Given the description of an element on the screen output the (x, y) to click on. 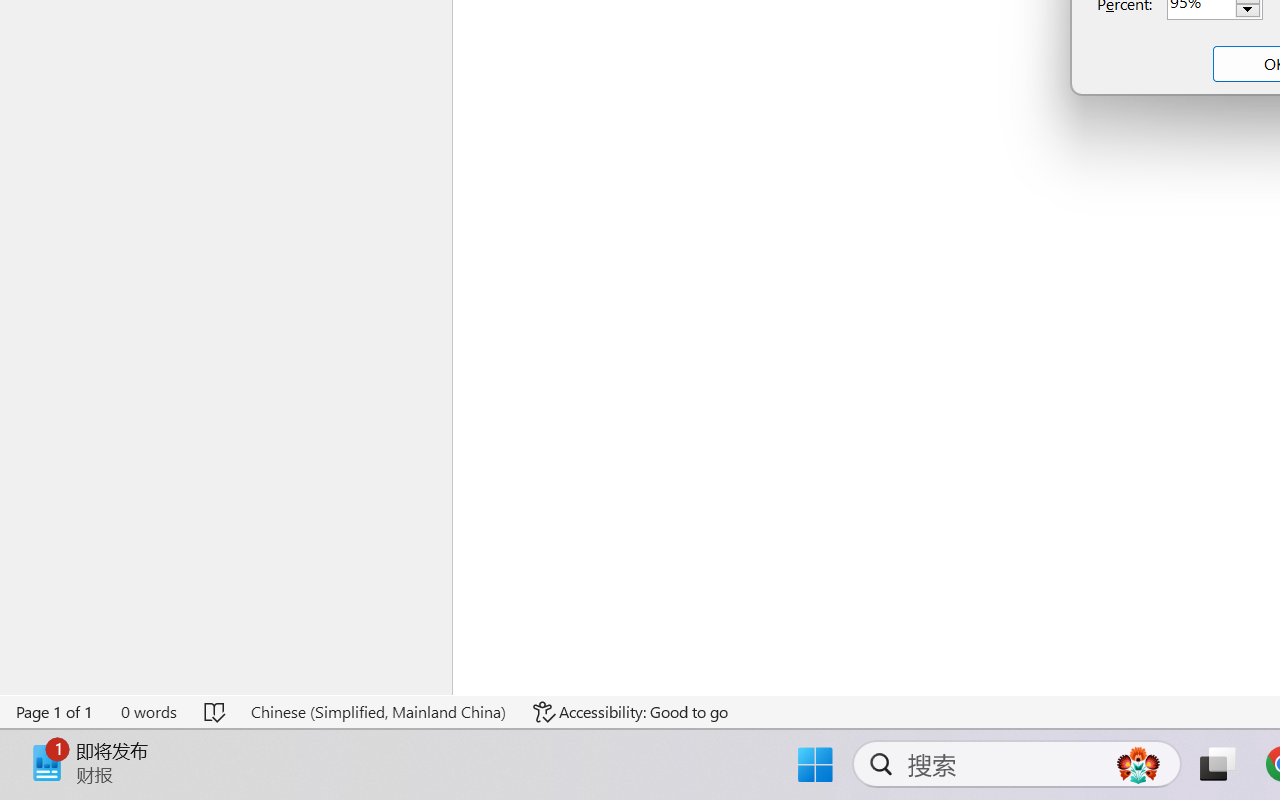
Language Chinese (Simplified, Mainland China) (378, 712)
